Given the description of an element on the screen output the (x, y) to click on. 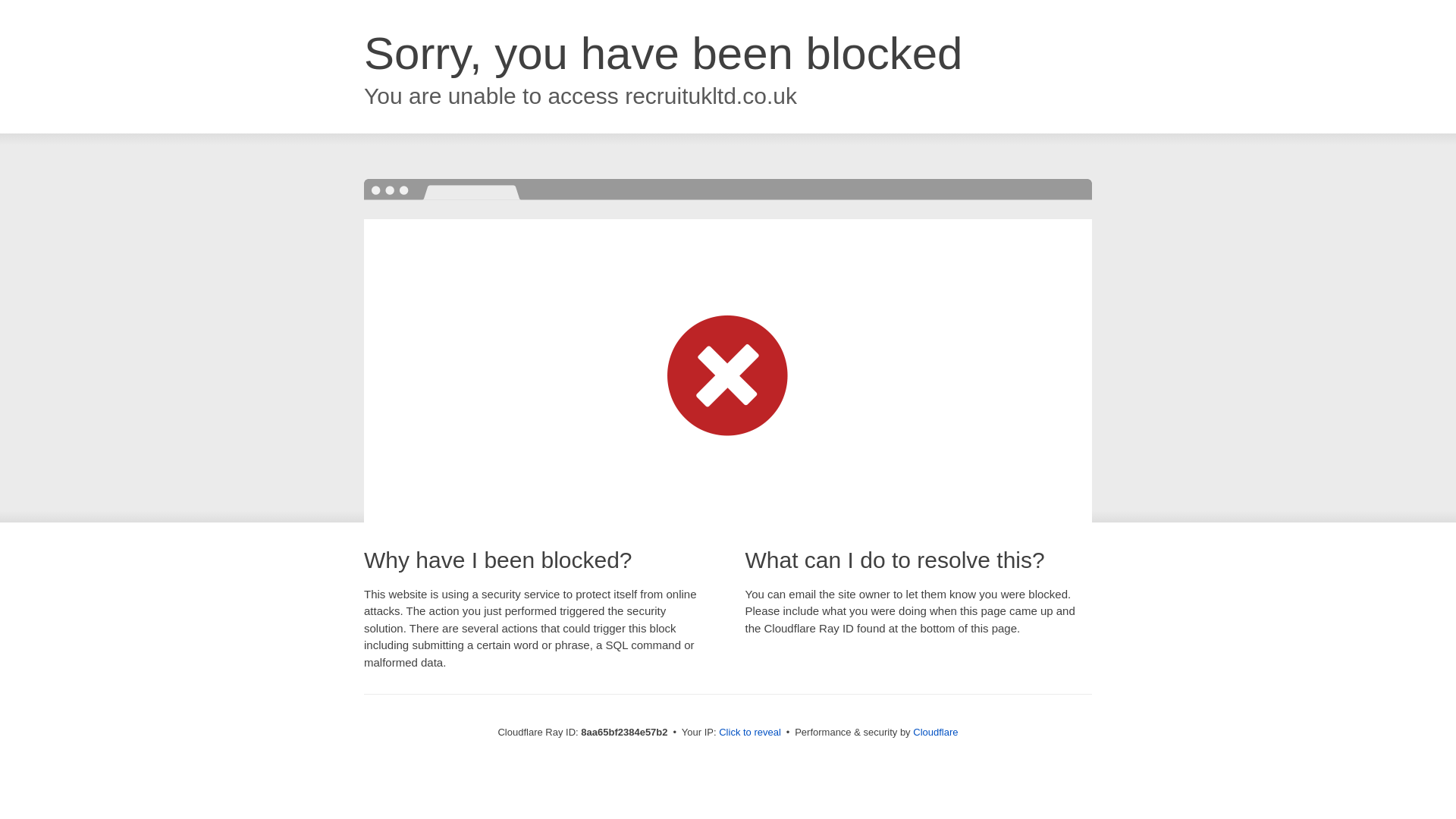
Click to reveal (749, 732)
Cloudflare (935, 731)
